Given the description of an element on the screen output the (x, y) to click on. 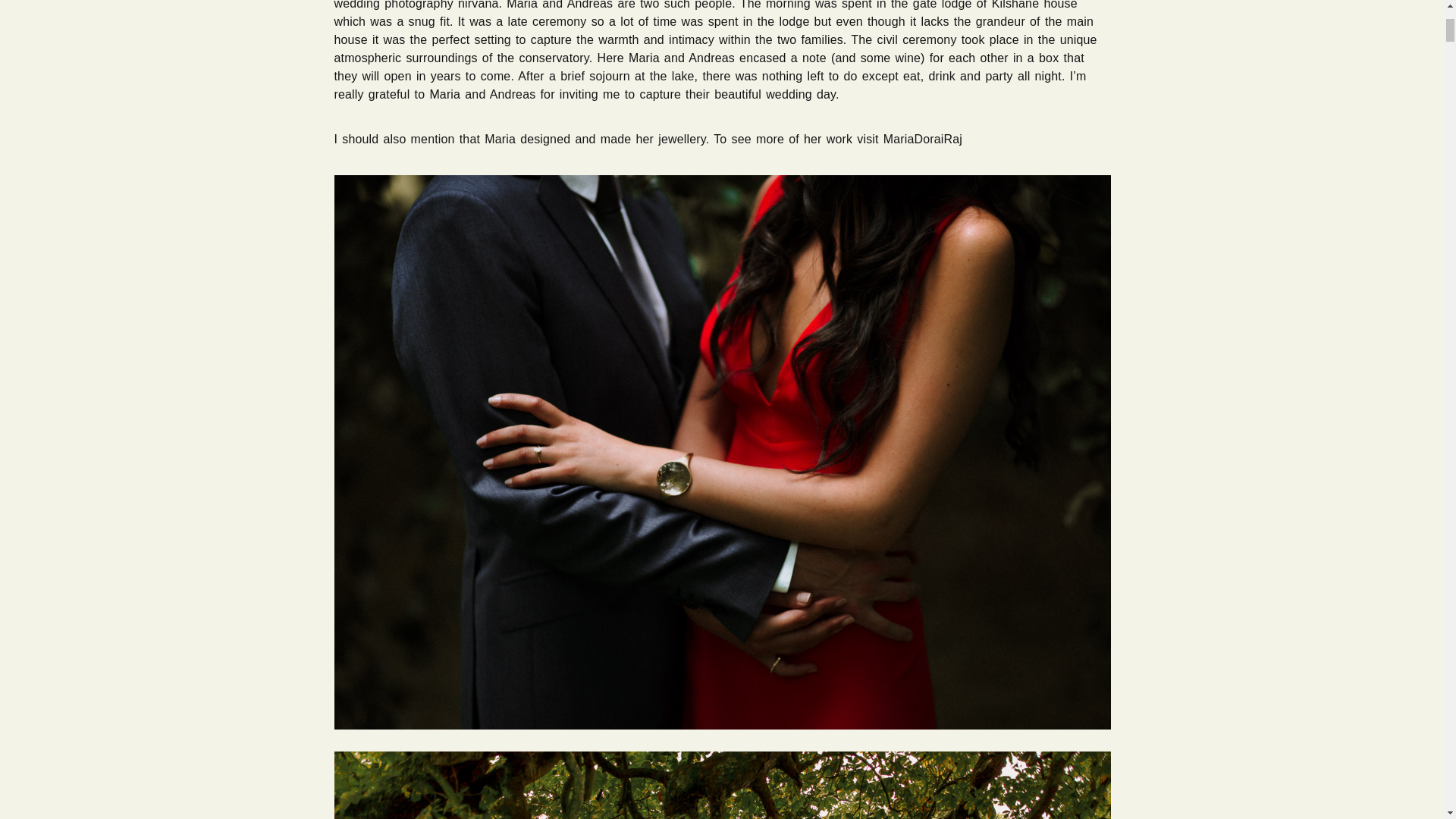
MariaDoraiRaj (922, 138)
